Given the description of an element on the screen output the (x, y) to click on. 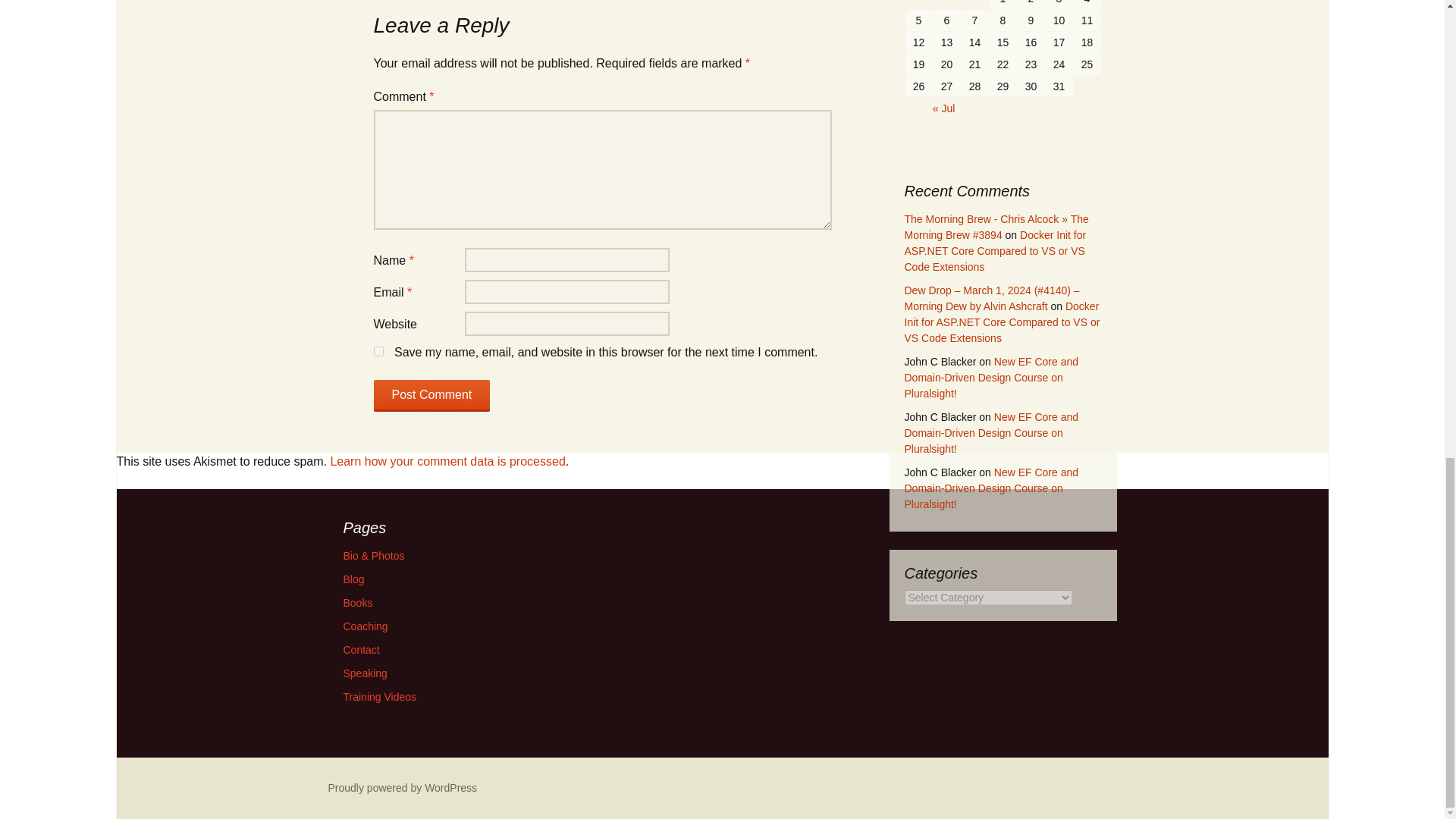
Learn how your comment data is processed (447, 461)
Post Comment (430, 395)
yes (377, 351)
Post Comment (430, 395)
